Given the description of an element on the screen output the (x, y) to click on. 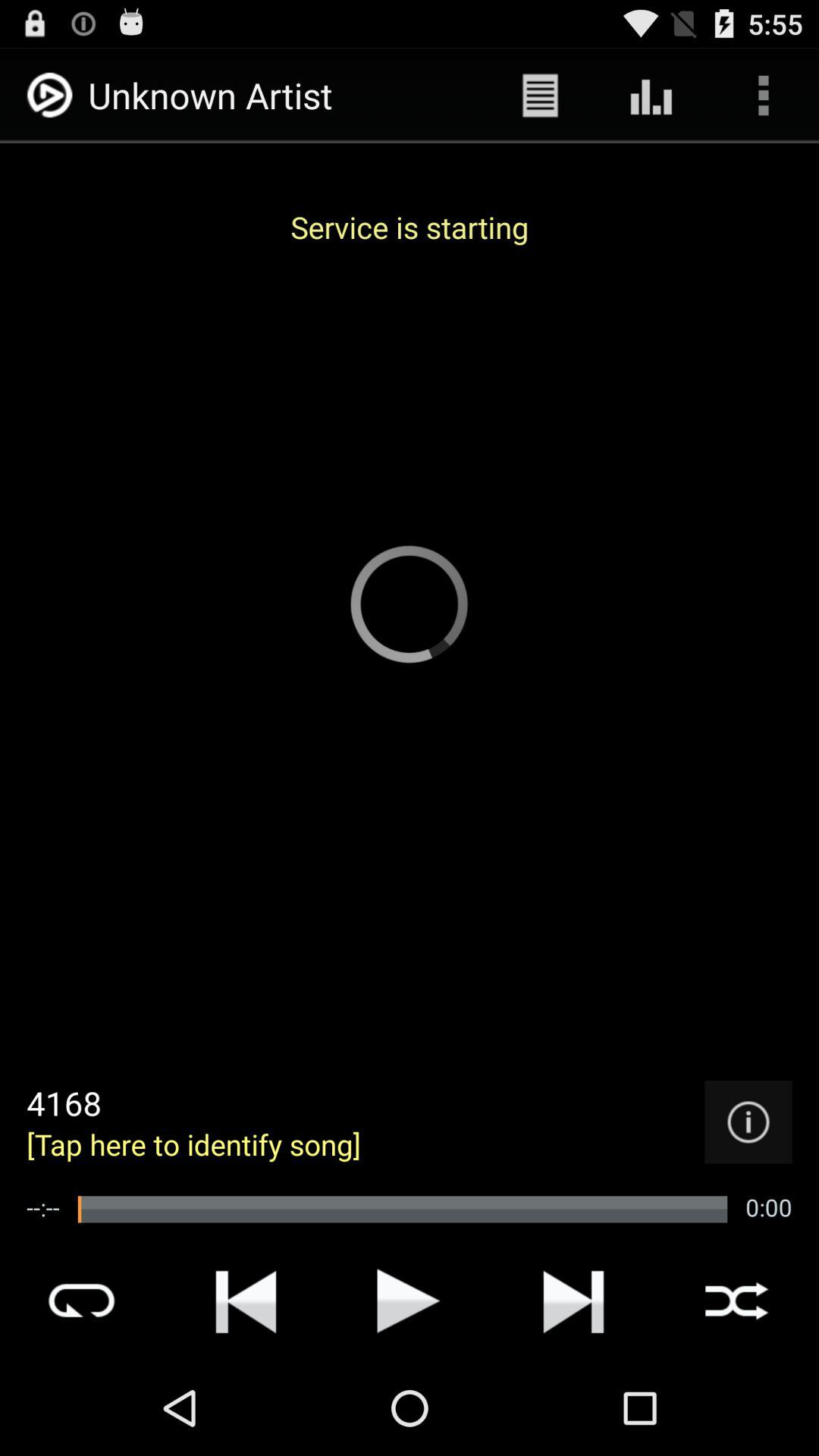
tap icon to the right of --:-- (402, 1209)
